Given the description of an element on the screen output the (x, y) to click on. 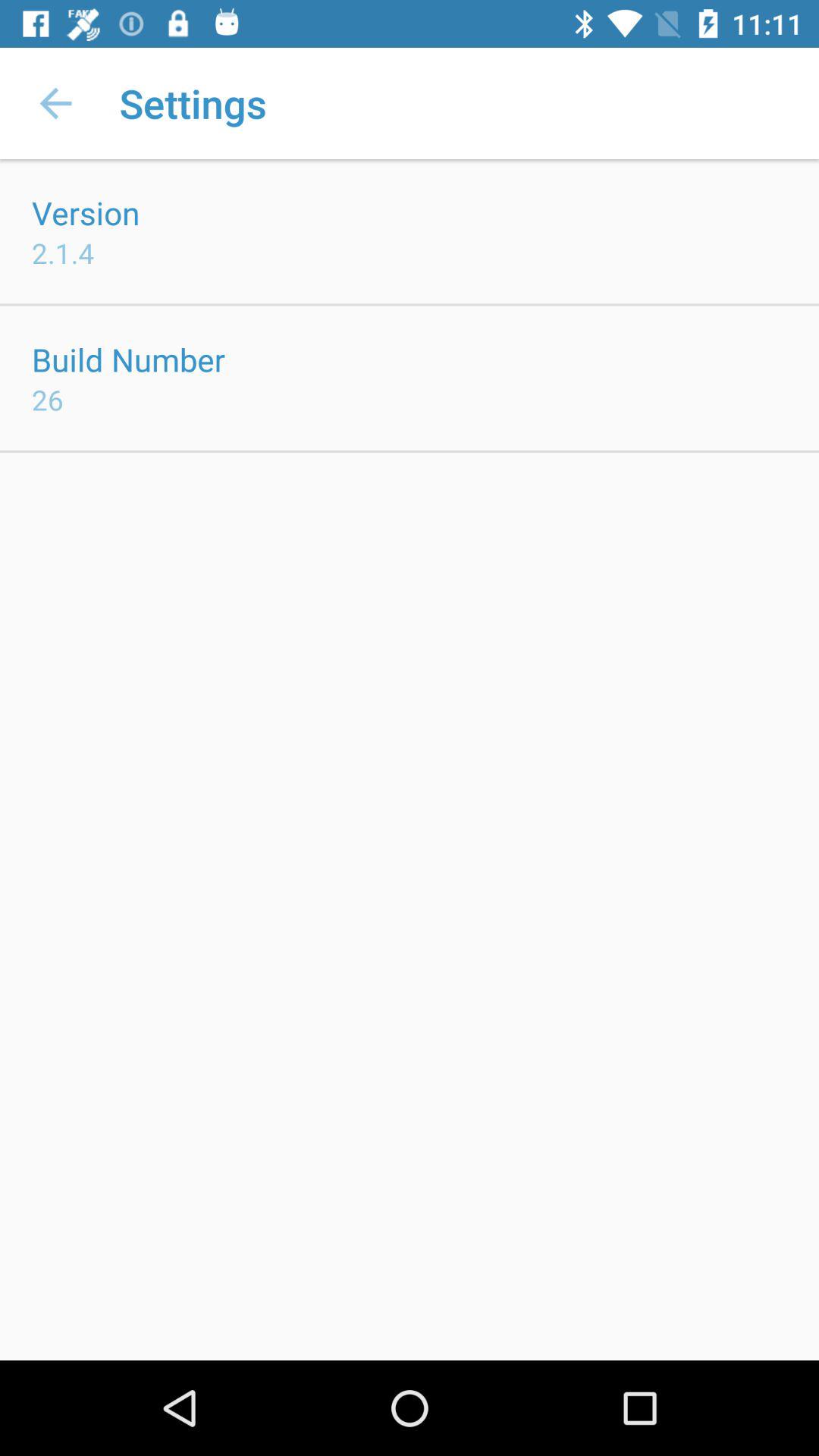
press icon above the build number item (62, 252)
